Given the description of an element on the screen output the (x, y) to click on. 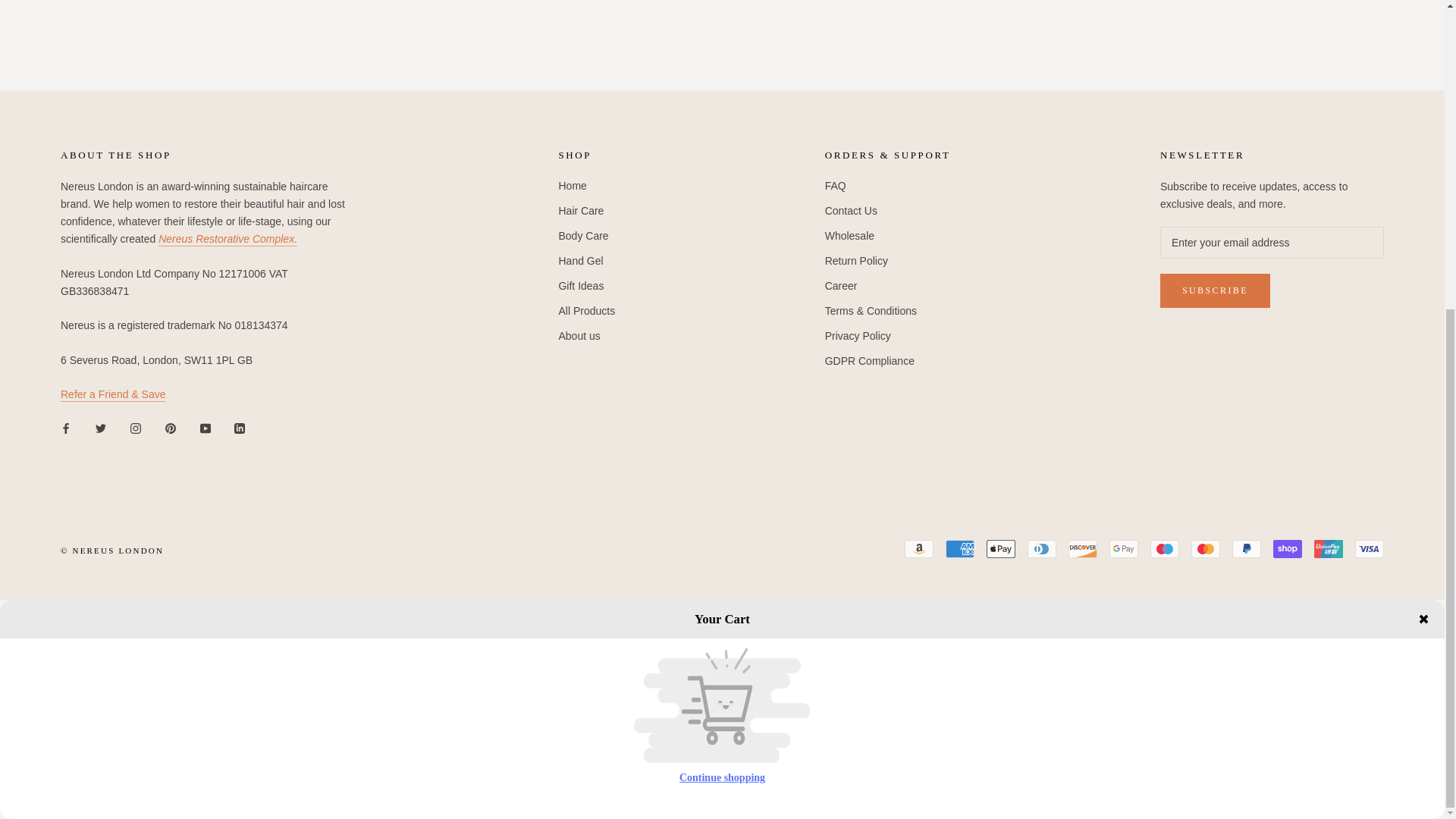
Discover (1082, 548)
Diners Club (1042, 548)
Mastercard (1205, 548)
Google Pay (1123, 548)
Amazon (918, 548)
PayPal (1245, 548)
Maestro (1164, 548)
American Express (959, 548)
Apple Pay (1000, 548)
Nereus London Refer a Friend (113, 394)
Shop Pay (1286, 548)
Nereus Restorative Complex (227, 238)
